Given the description of an element on the screen output the (x, y) to click on. 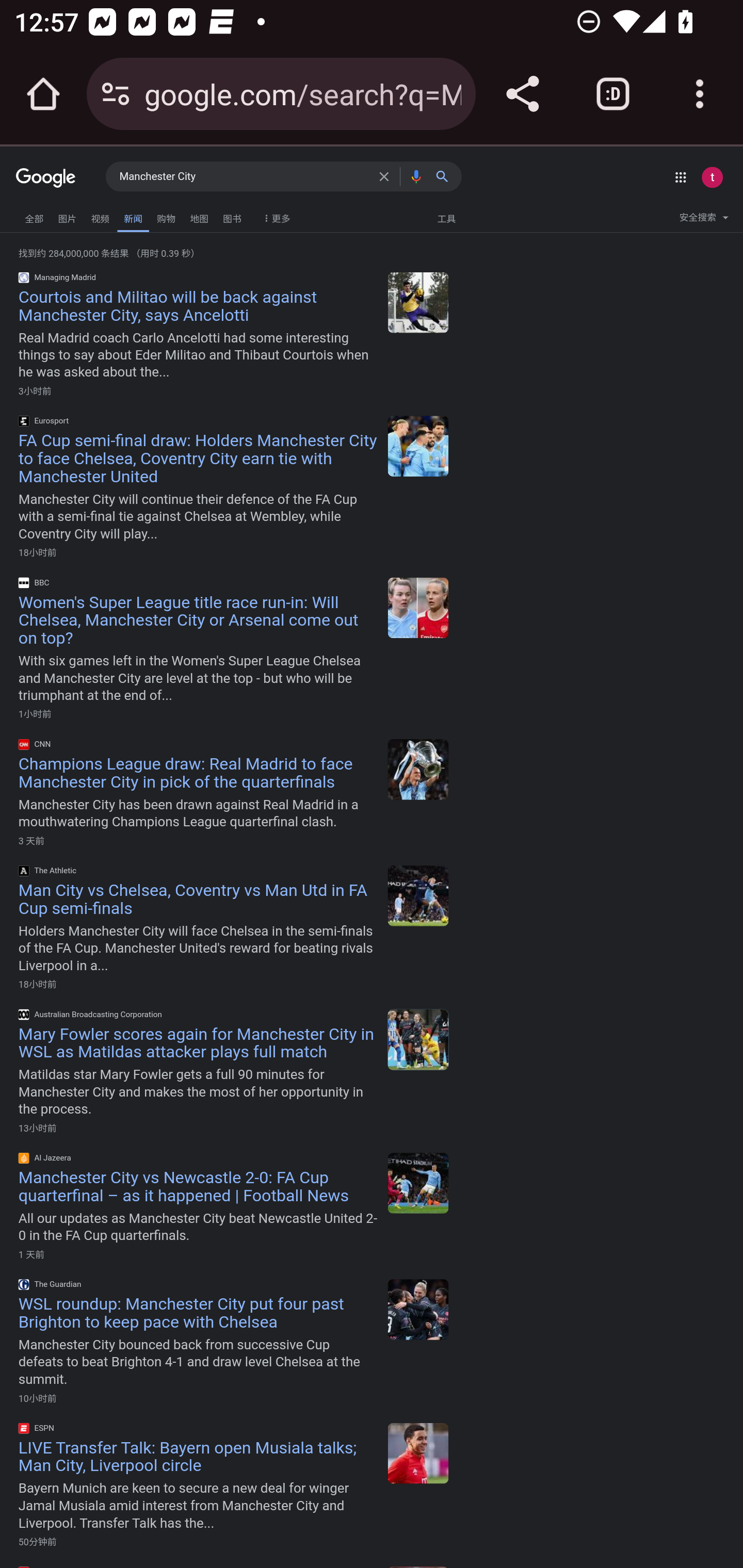
Open the home page (43, 93)
Connection is secure (115, 93)
Share (522, 93)
Switch or close tabs (612, 93)
Customize and control Google Chrome (699, 93)
清除 (386, 176)
按语音搜索 (415, 176)
Google 搜索 (446, 176)
Google 应用 (680, 176)
Google 账号： test appium (testappium002@gmail.com) (712, 176)
Google (45, 178)
Manchester City (244, 177)
全部 (33, 216)
图片 (67, 216)
视频 (99, 216)
新闻 (133, 217)
购物 (166, 216)
地图 (199, 216)
图书 (232, 216)
More Filters (273, 213)
安全搜索 (703, 219)
工具 (446, 217)
